Given the description of an element on the screen output the (x, y) to click on. 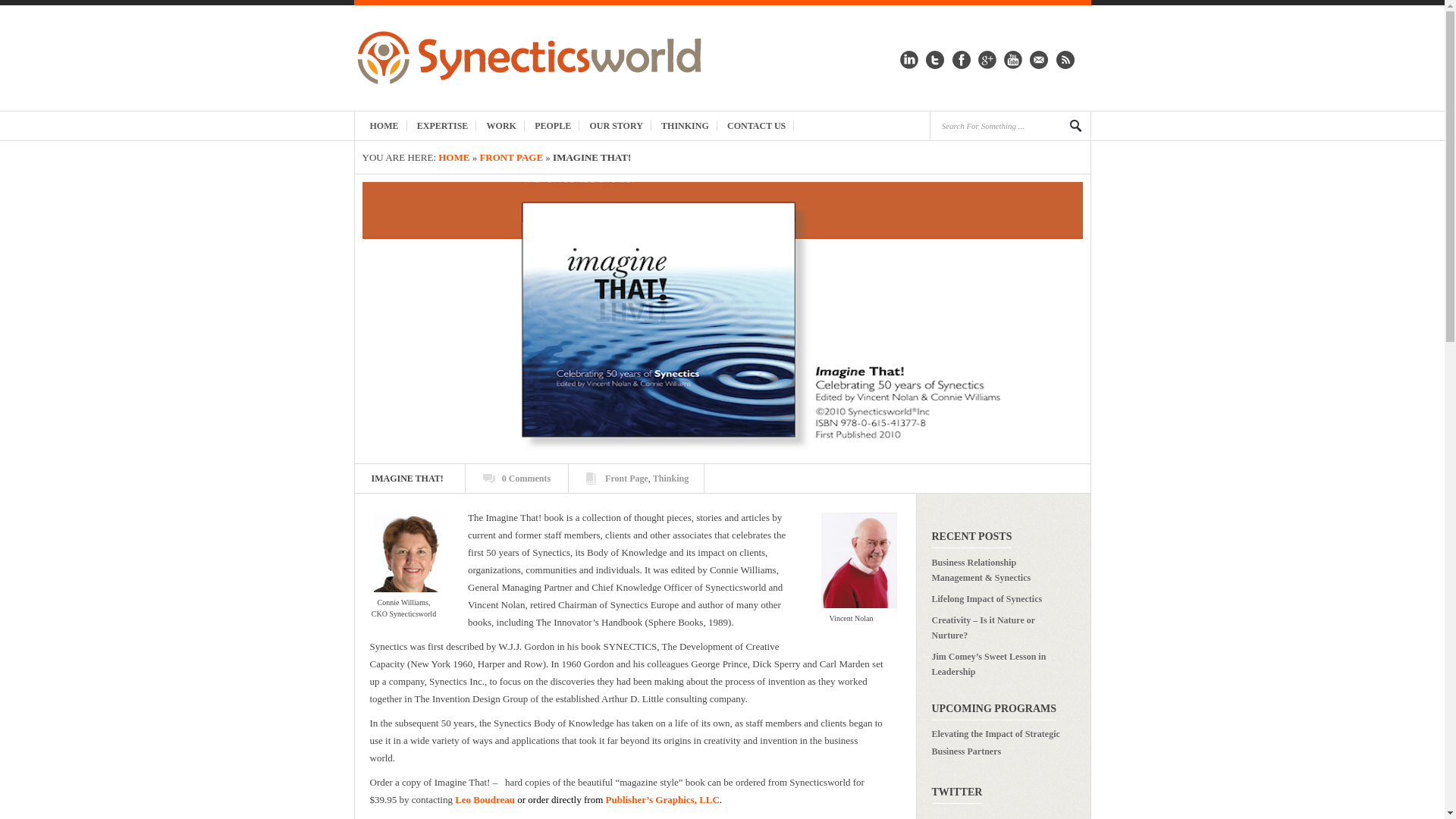
Front Page (626, 478)
WORK (501, 125)
Search For Something ... (998, 125)
Connie Williams (410, 552)
LinkedIn (908, 65)
FRONT PAGE (511, 156)
PEOPLE (553, 125)
Thinking (670, 478)
Email (1038, 65)
OUR STORY (615, 125)
CONTACT US (756, 125)
EXPERTISE (443, 125)
Facebook (961, 65)
THINKING (685, 125)
HOME (453, 156)
